Given the description of an element on the screen output the (x, y) to click on. 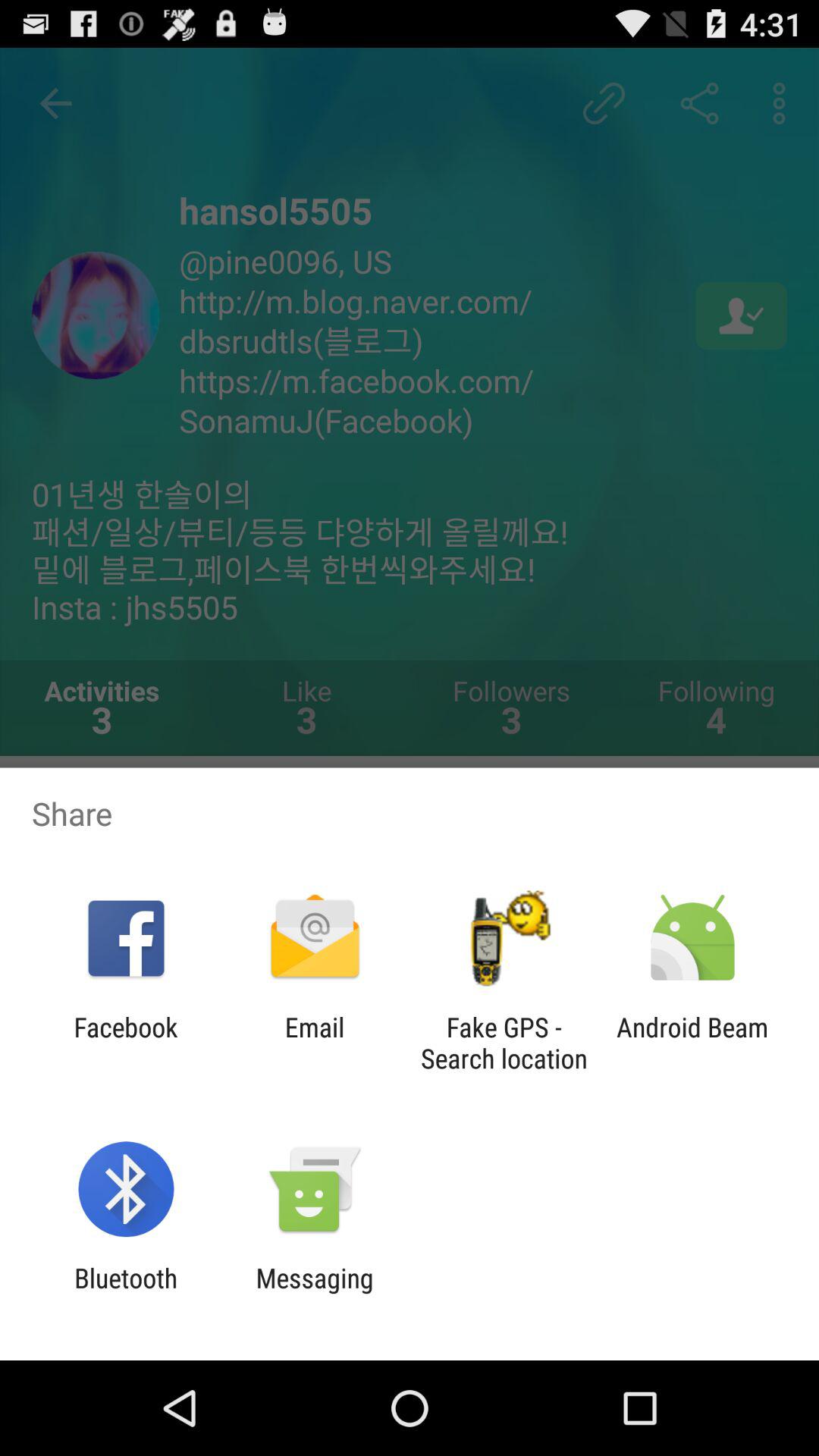
turn on the app to the left of android beam (503, 1042)
